Given the description of an element on the screen output the (x, y) to click on. 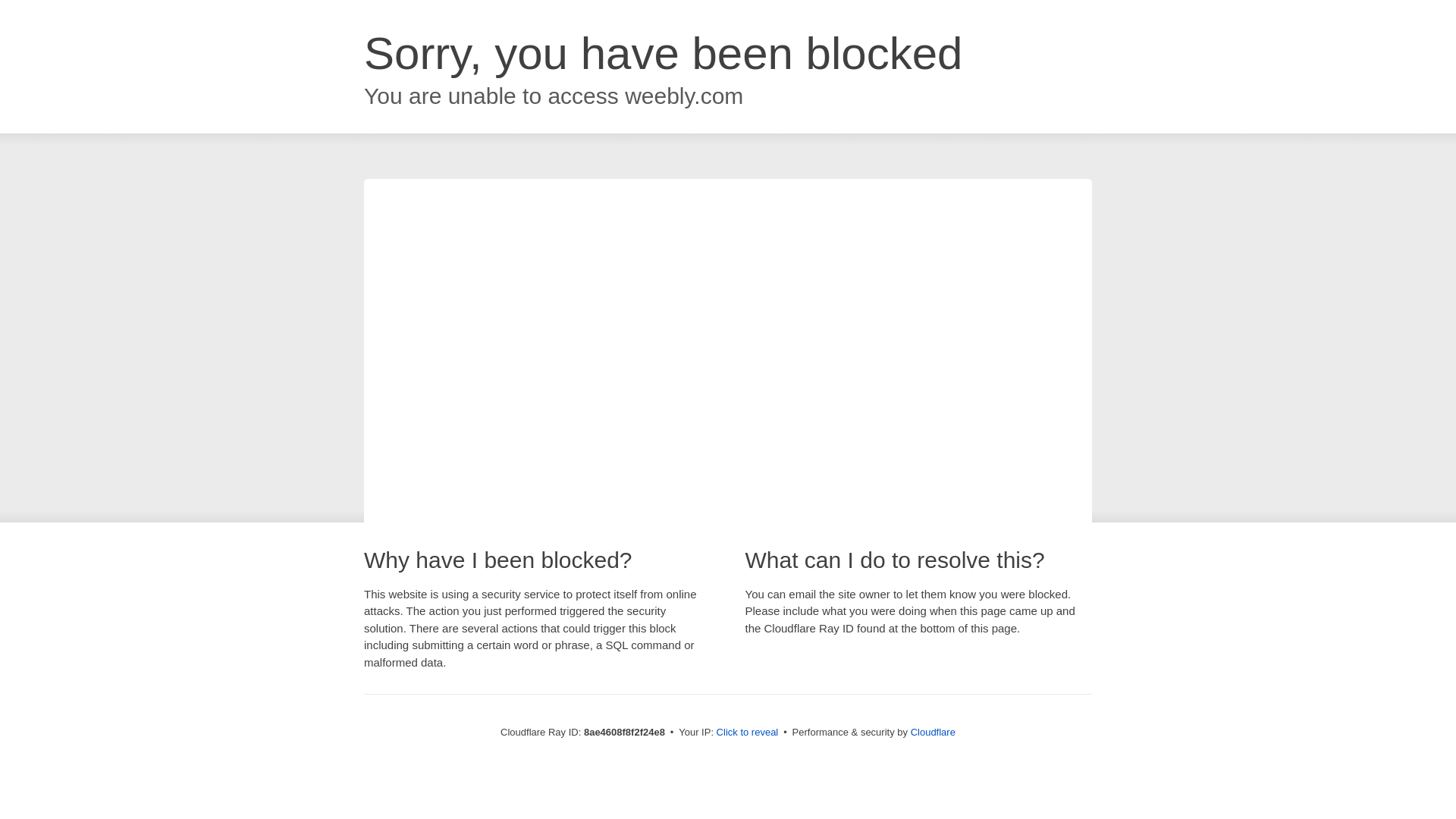
Click to reveal (747, 732)
Cloudflare (933, 731)
